Given the description of an element on the screen output the (x, y) to click on. 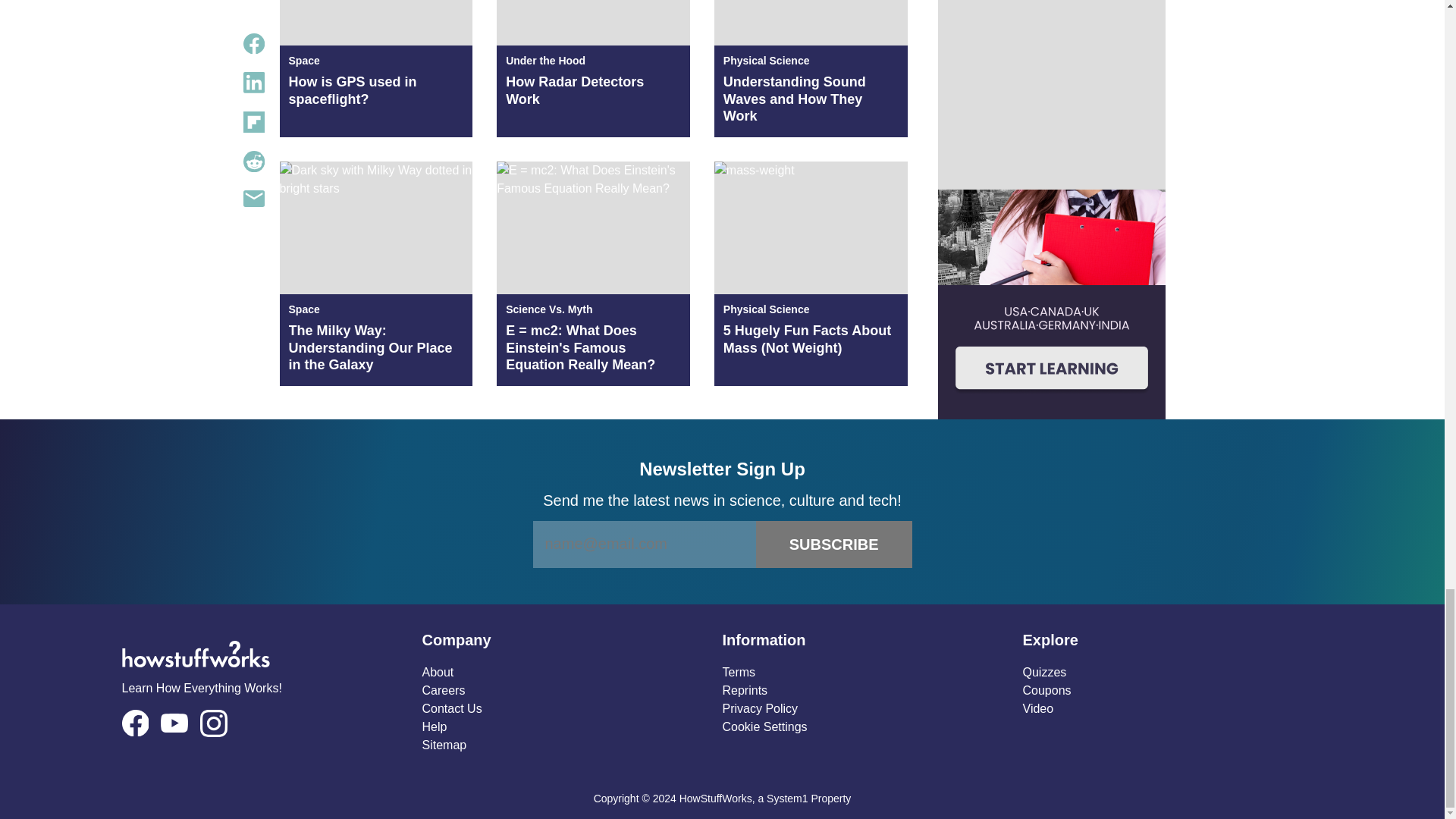
Visit HowStuffWorks on Instagram (213, 723)
Visit HowStuffWorks on Facebook (134, 723)
Visit HowStuffWorks on YouTube (173, 722)
Subscribe (833, 544)
